Given the description of an element on the screen output the (x, y) to click on. 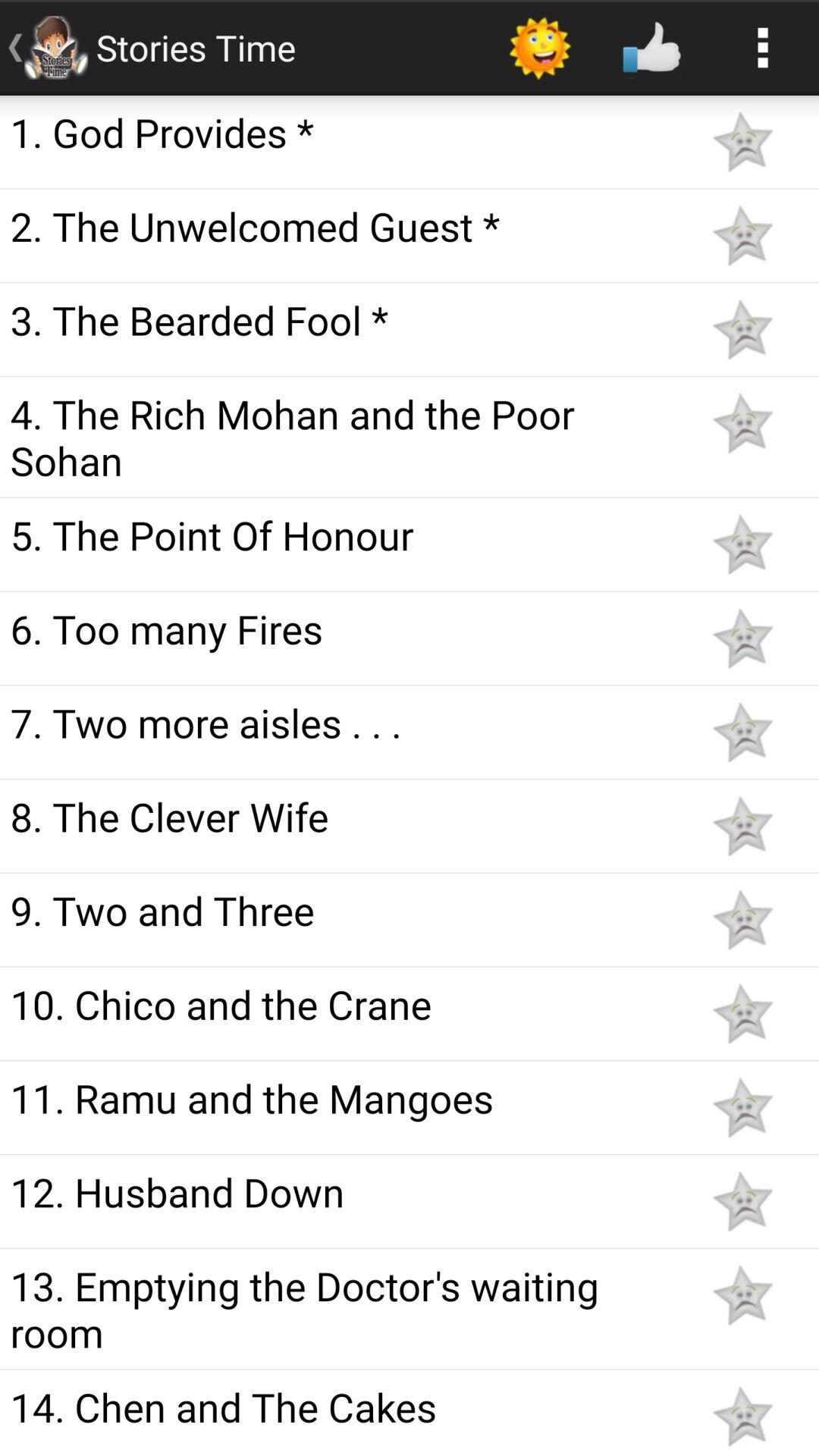
turn on 12. husband down (343, 1191)
